Given the description of an element on the screen output the (x, y) to click on. 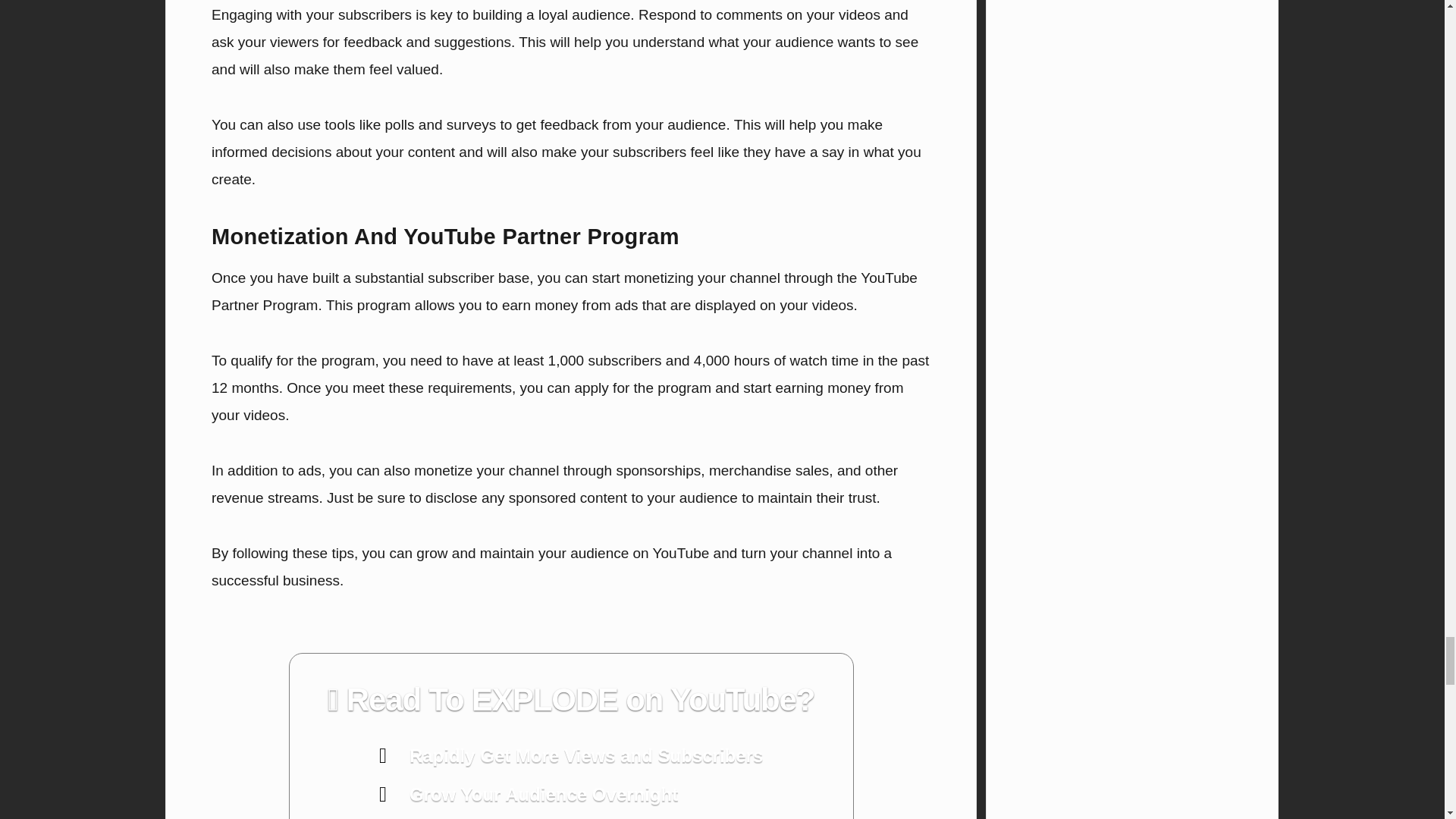
revenue (237, 497)
revenue (237, 497)
qualify for the program (302, 360)
